Given the description of an element on the screen output the (x, y) to click on. 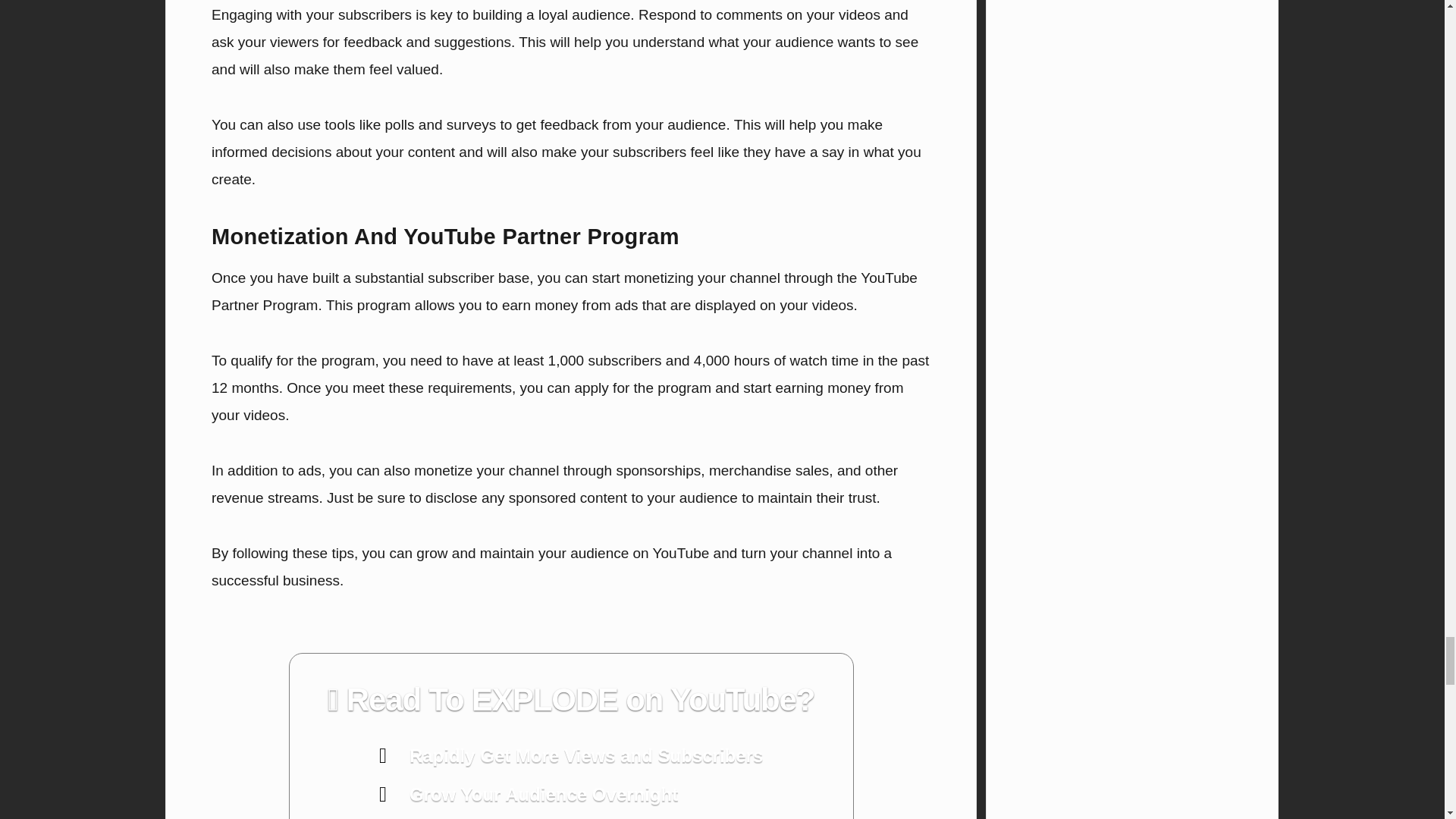
revenue (237, 497)
revenue (237, 497)
qualify for the program (302, 360)
